Given the description of an element on the screen output the (x, y) to click on. 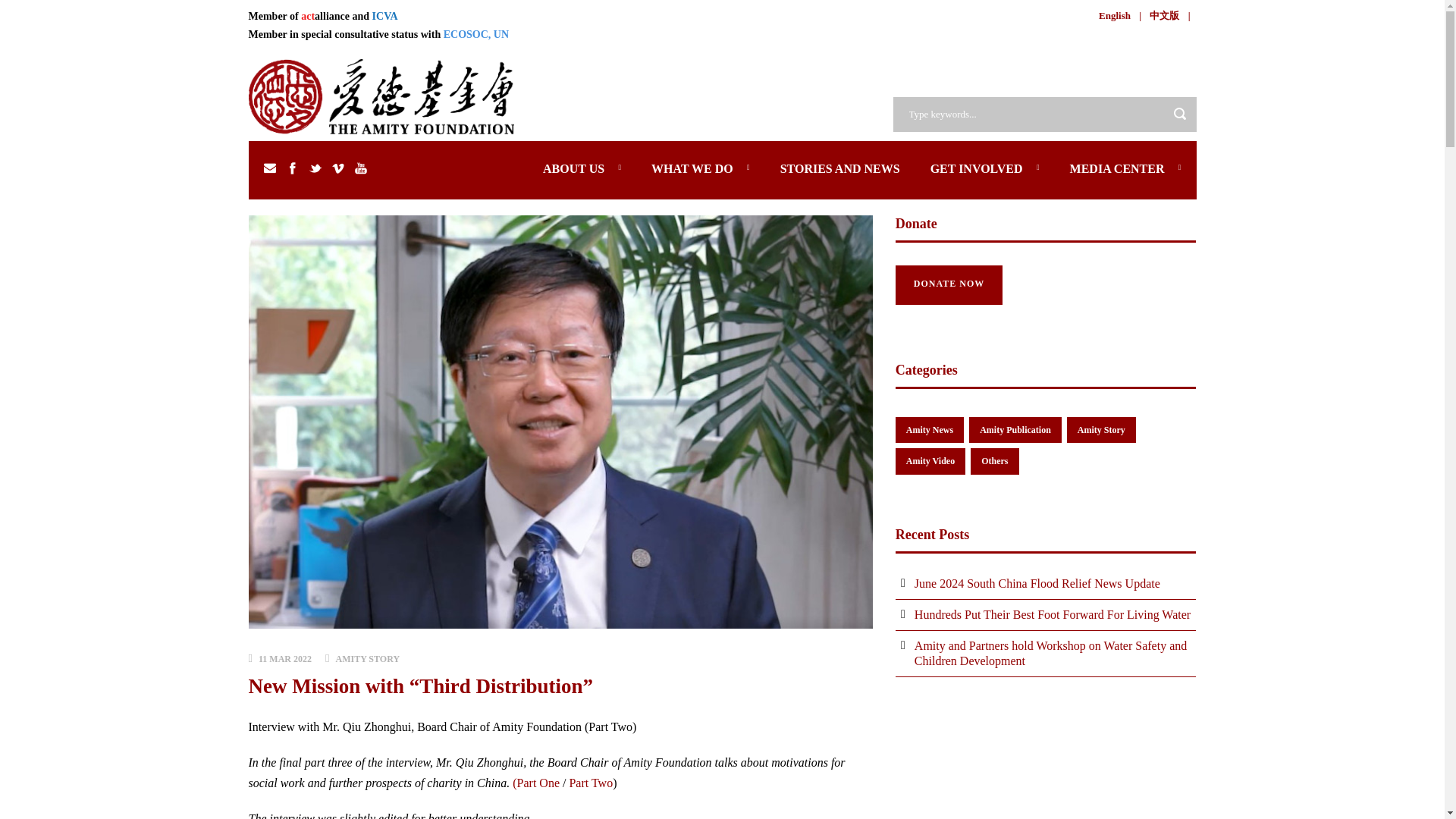
ICVA (384, 16)
actalliance (325, 16)
Type keywords... (1044, 114)
English (1115, 15)
ECOSOC, UN (476, 34)
